Given the description of an element on the screen output the (x, y) to click on. 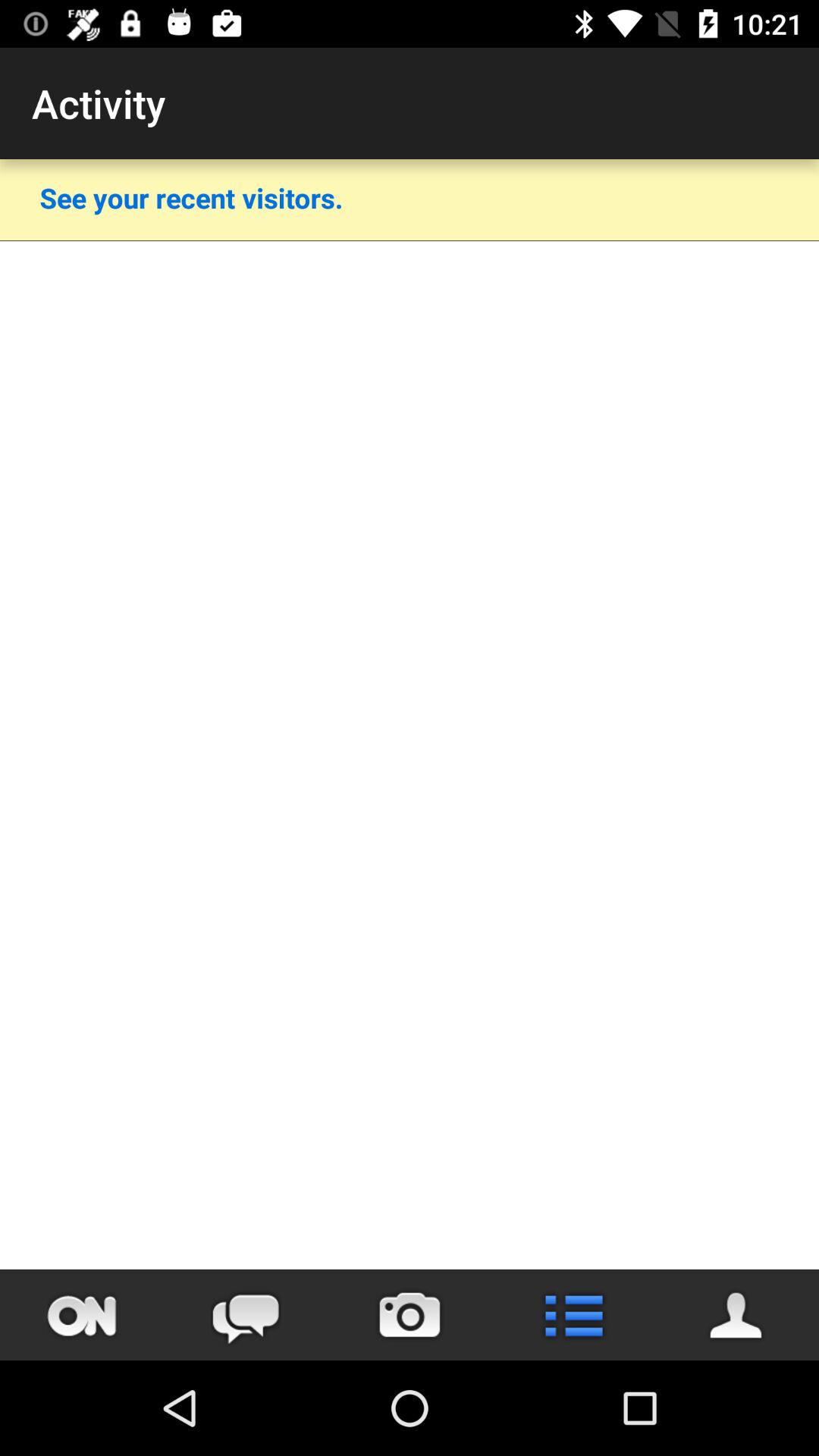
turn on activity (81, 1315)
